Given the description of an element on the screen output the (x, y) to click on. 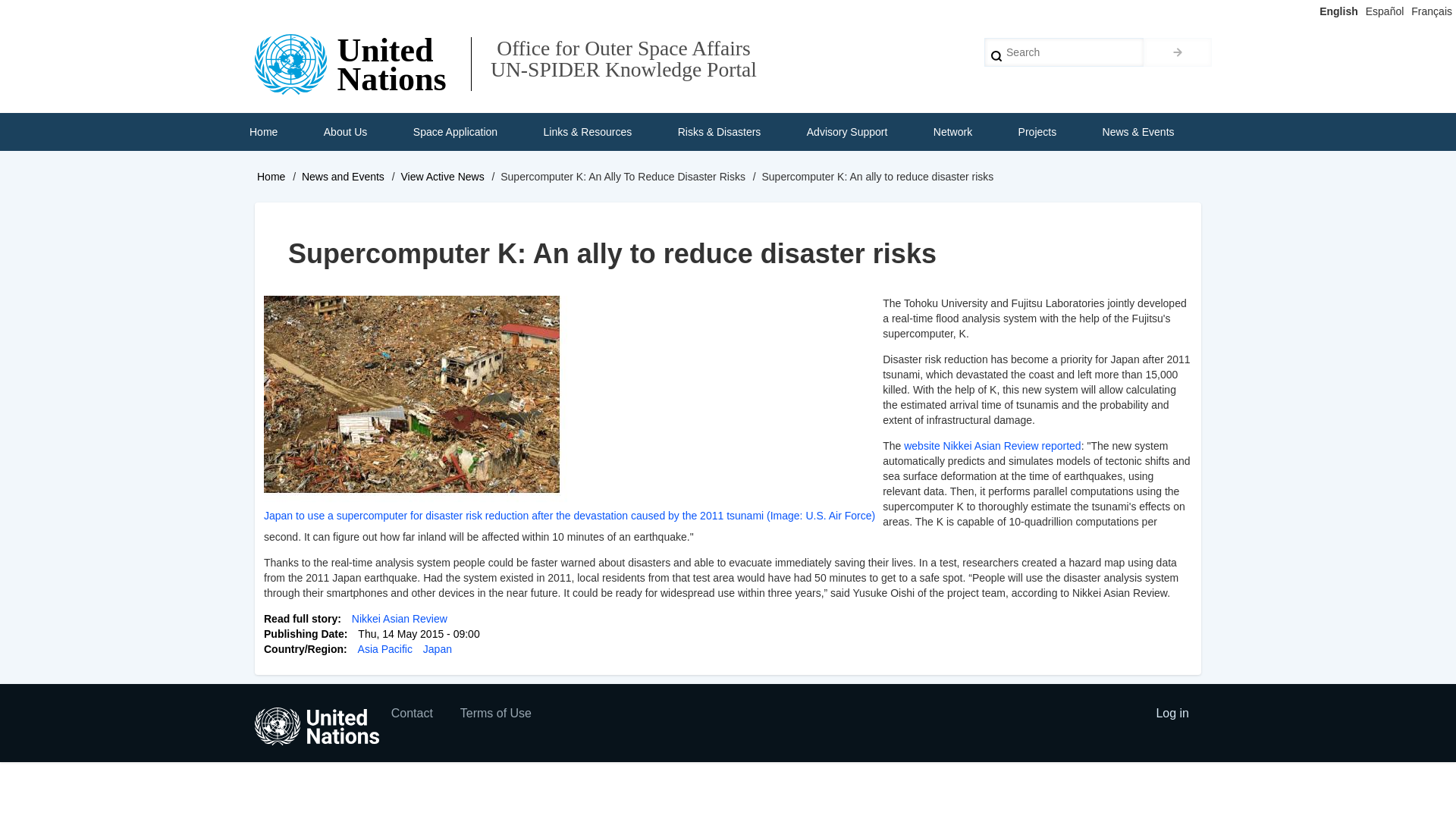
About Us (345, 131)
English (1338, 10)
Home (263, 131)
Advisory Support (847, 131)
. (1176, 51)
. (1176, 51)
. (1176, 51)
Space Application (454, 131)
Enter the terms you wish to search for. (1063, 51)
